Given the description of an element on the screen output the (x, y) to click on. 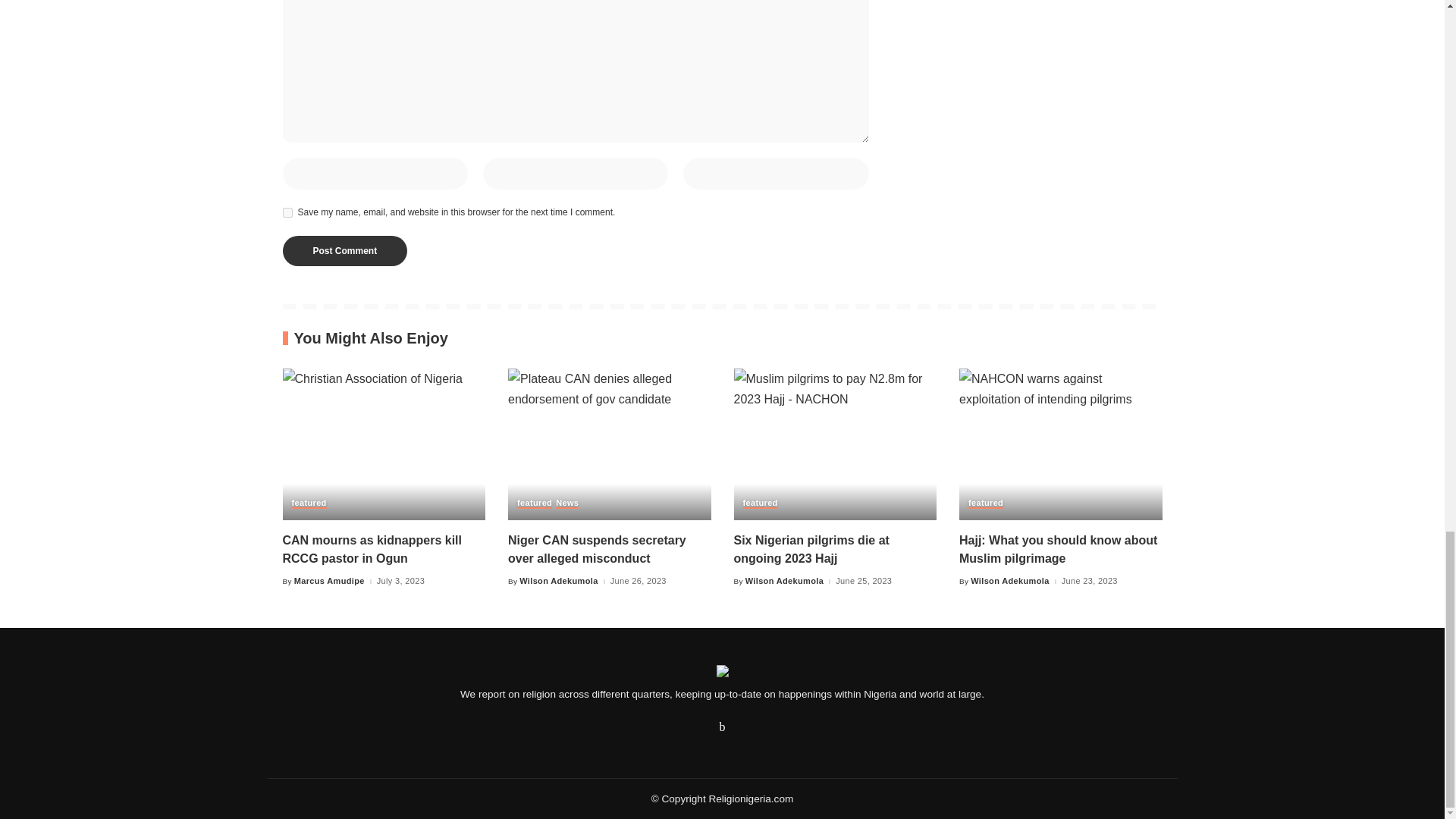
yes (287, 212)
Post Comment (344, 250)
